Given the description of an element on the screen output the (x, y) to click on. 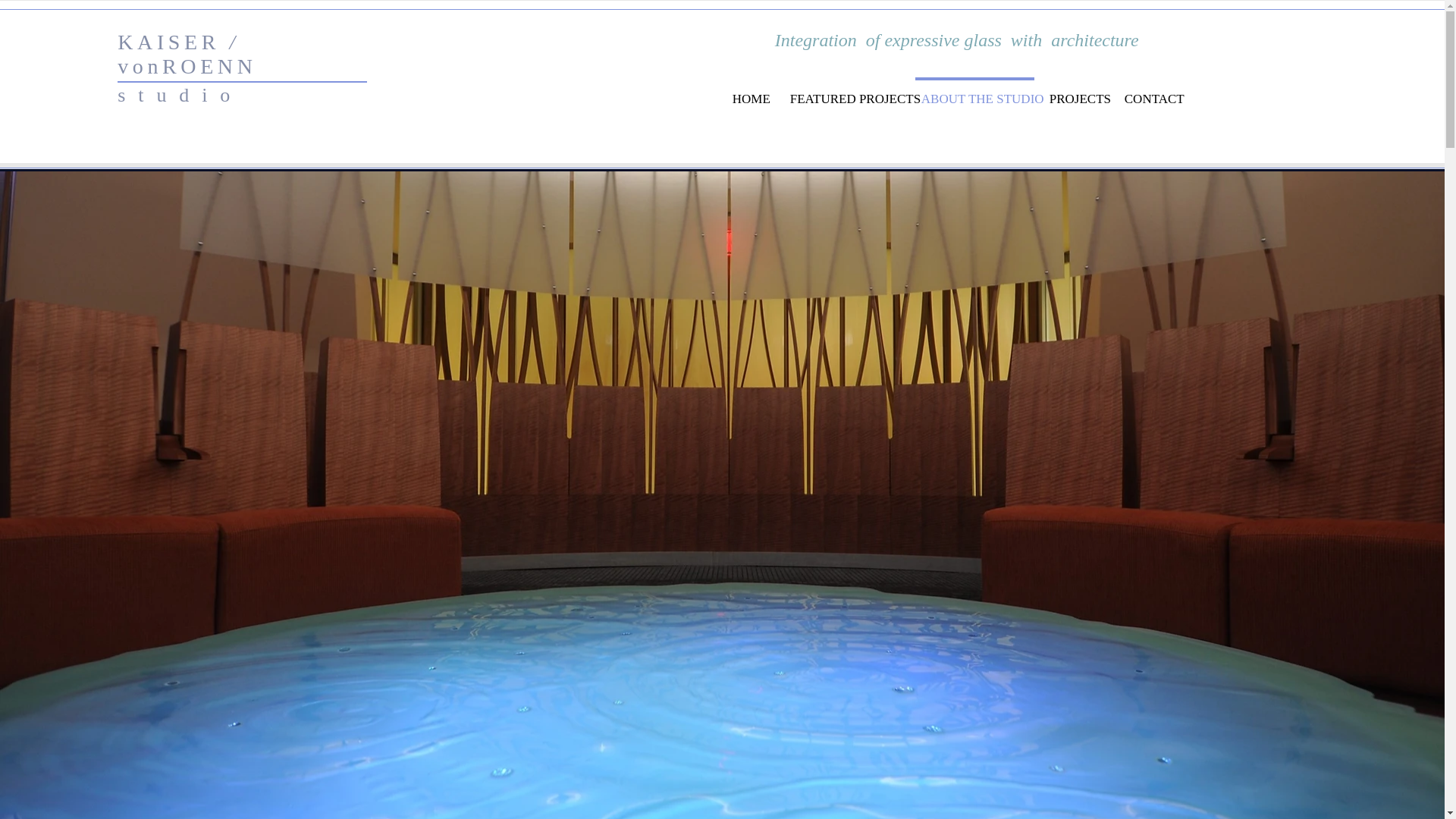
HOME (750, 91)
ABOUT THE STUDIO (975, 91)
FEATURED PROJECTS (844, 91)
PROJECTS (1076, 91)
CONTACT (1150, 91)
s t u d i o (174, 95)
